Given the description of an element on the screen output the (x, y) to click on. 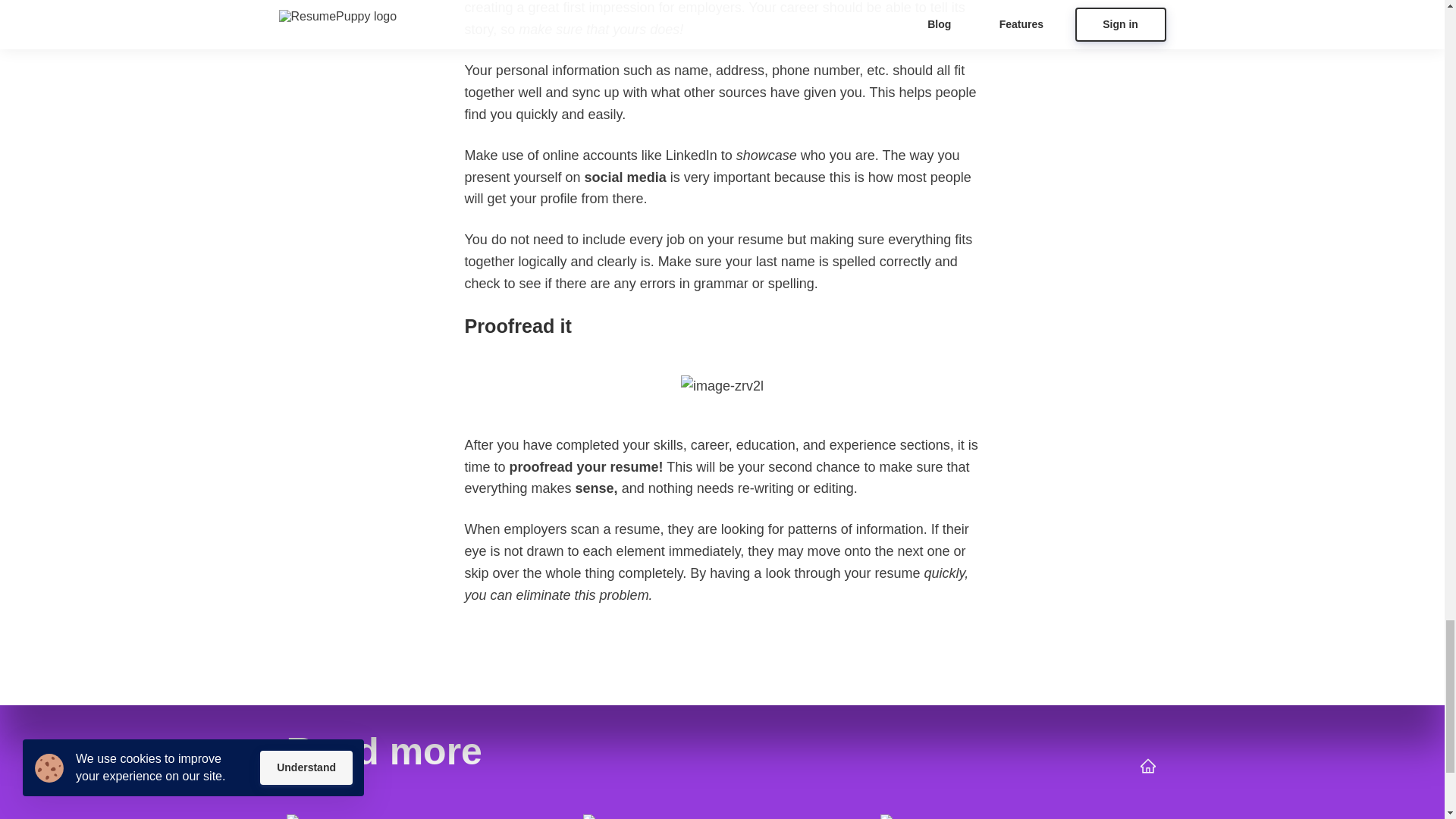
How To Get The Salary You Want In A Job Interview (425, 812)
How To Upload Resume On Ziprecruiter (721, 812)
Best Jobs To Put On Resume (1019, 812)
